Given the description of an element on the screen output the (x, y) to click on. 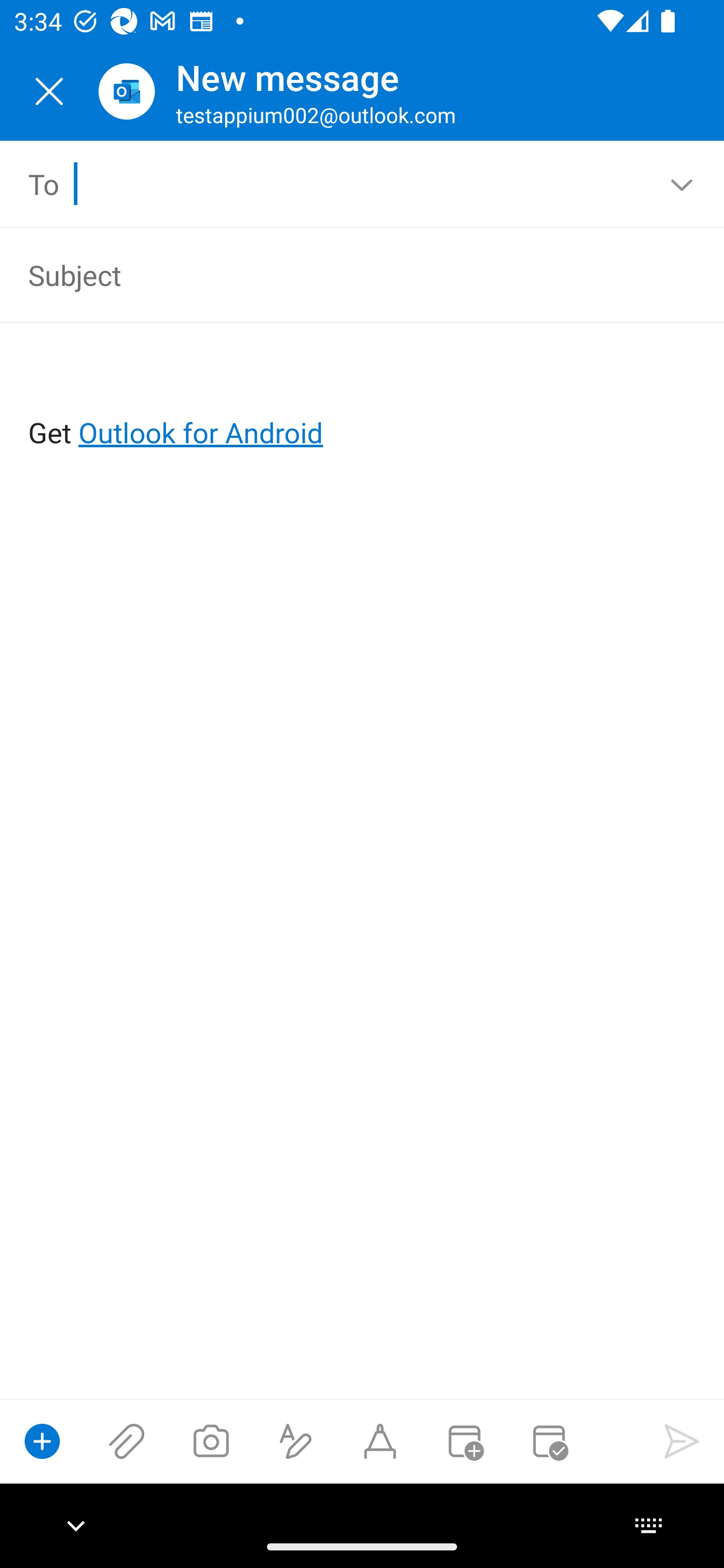
Close (49, 91)
Subject (333, 274)
Show compose options (42, 1440)
Attach files (126, 1440)
Take a photo (210, 1440)
Show formatting options (295, 1440)
Start Ink compose (380, 1440)
Convert to event (464, 1440)
Send availability (548, 1440)
Send (681, 1440)
